Given the description of an element on the screen output the (x, y) to click on. 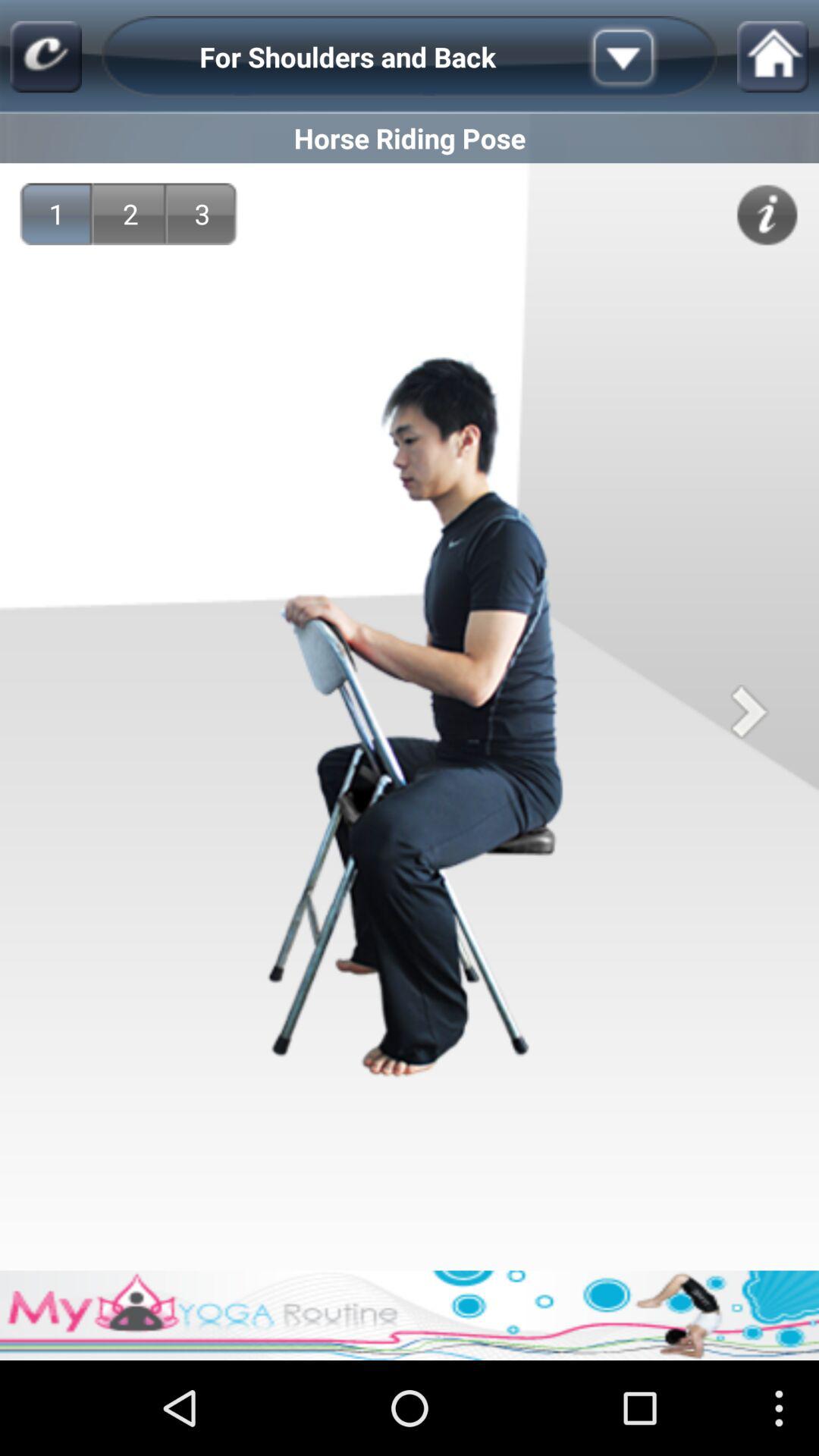
click the item below horse riding pose app (56, 214)
